Given the description of an element on the screen output the (x, y) to click on. 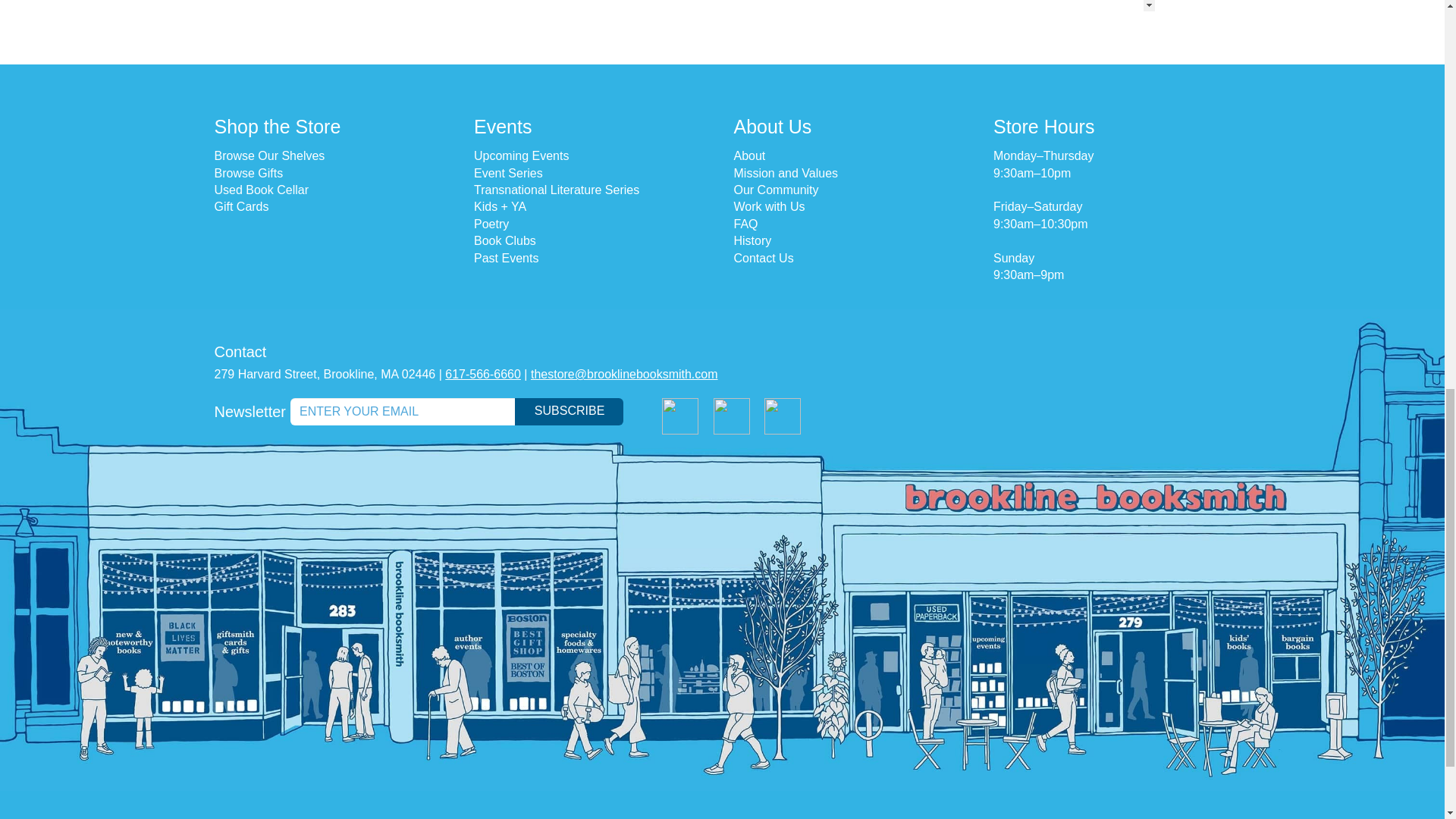
Subscribe (569, 411)
